Given the description of an element on the screen output the (x, y) to click on. 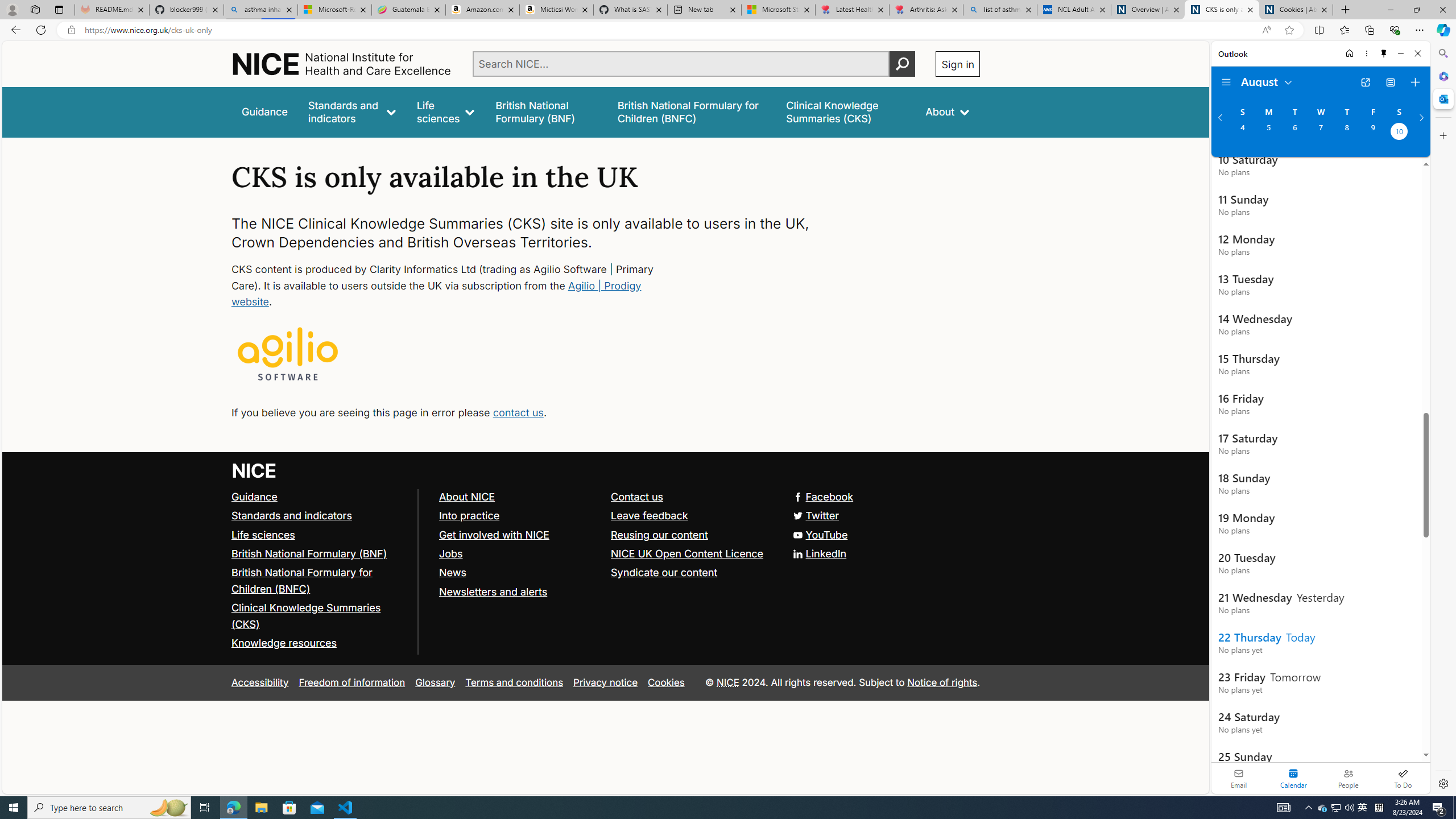
LinkedIn (605, 553)
NICE UK Open Content Licence (687, 553)
Microsoft-Report a Concern to Bing (334, 9)
LinkedIn (820, 553)
YouTube (820, 534)
Cookies (665, 682)
Monday, August 5, 2024.  (1268, 132)
Reusing our content (659, 534)
Go to NICE home page (253, 470)
Accessibility (259, 682)
Life sciences (319, 534)
To Do (1402, 777)
Privacy notice (605, 682)
